Given the description of an element on the screen output the (x, y) to click on. 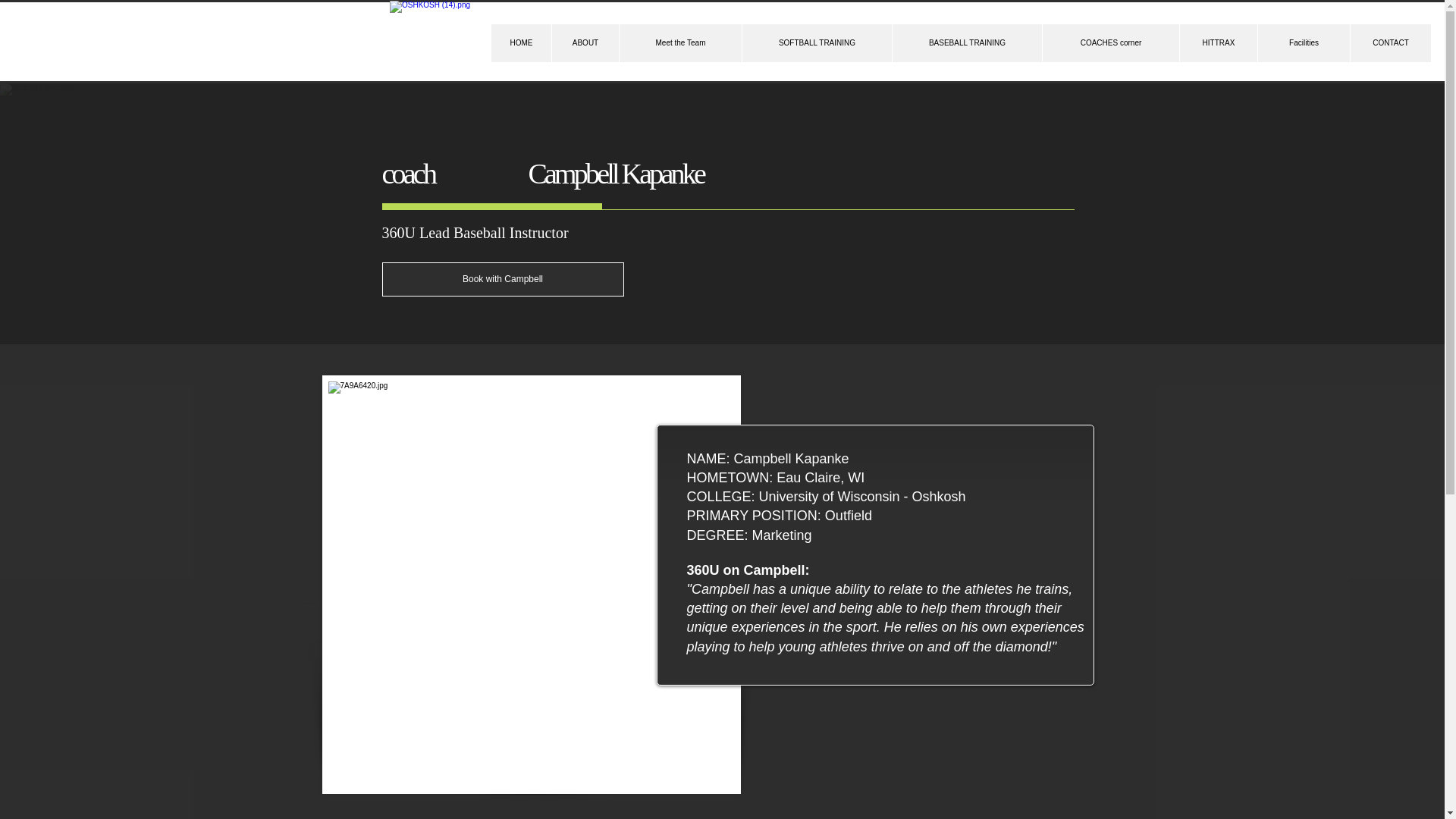
SOFTBALL TRAINING (816, 43)
HITTRAX (1218, 43)
BASEBALL TRAINING (966, 43)
HOME (521, 43)
ABOUT (584, 43)
Book with Campbell (502, 279)
